Given the description of an element on the screen output the (x, y) to click on. 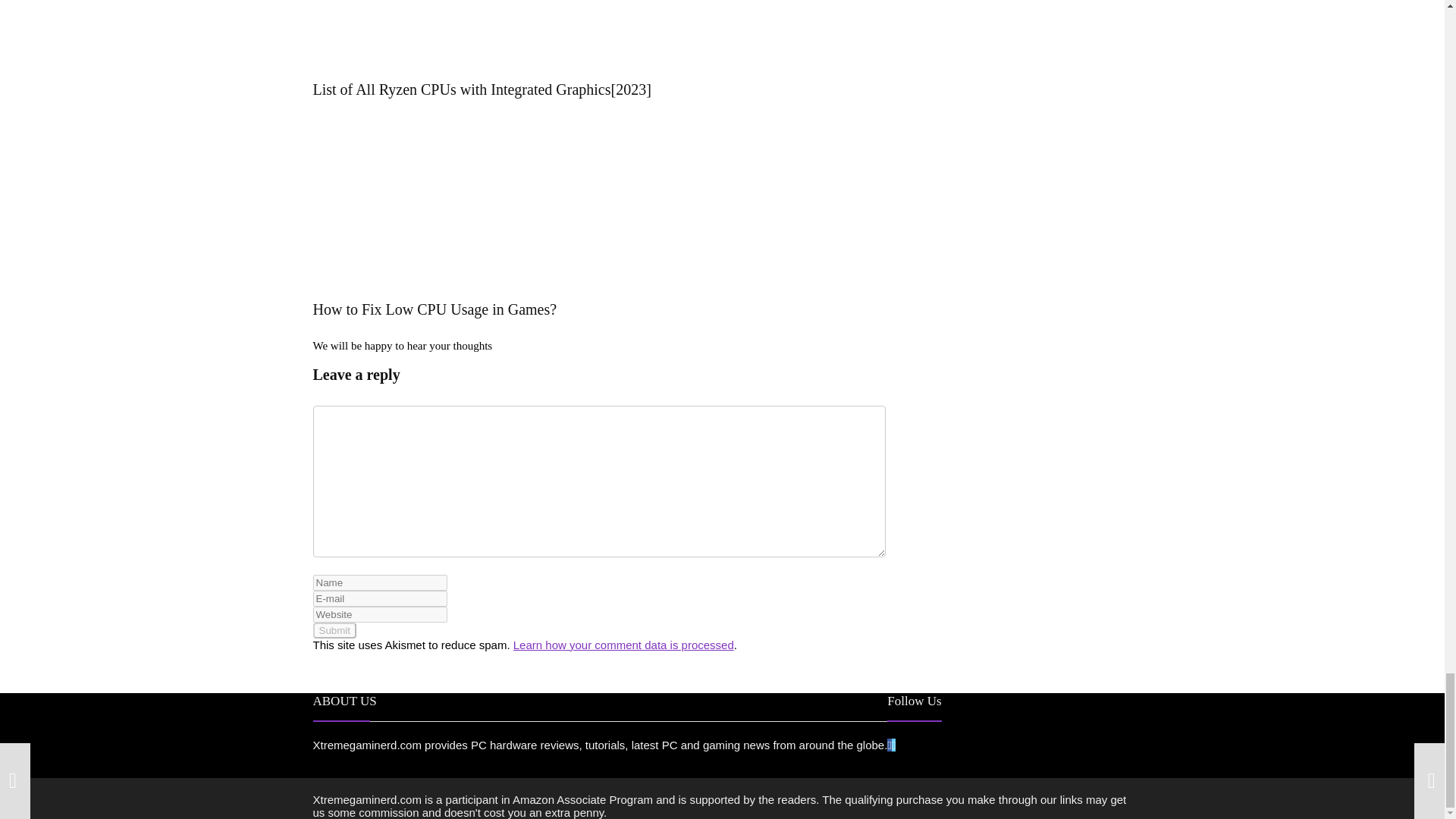
Submit (334, 630)
DMCA.com Protection Status (987, 712)
